Given the description of an element on the screen output the (x, y) to click on. 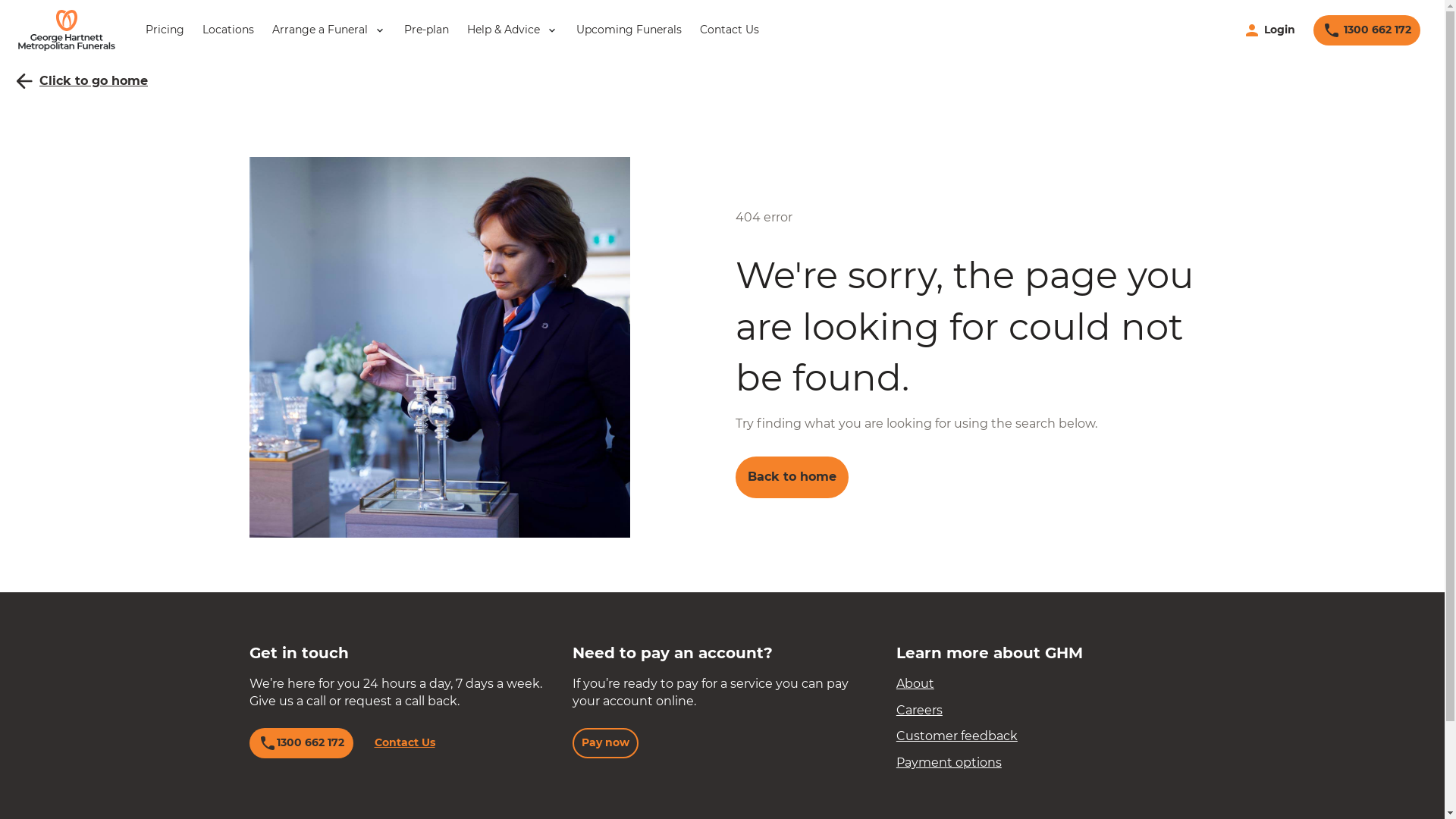
Pre-plan Element type: text (426, 29)
Return to ghm home page Element type: hover (66, 30)
Payment options Element type: text (948, 762)
Login Element type: text (1268, 30)
Careers Element type: text (919, 709)
Locations Element type: text (228, 29)
Pricing Element type: text (164, 29)
Upcoming Funerals Element type: text (628, 29)
Click to go home Element type: text (80, 80)
Contact Us Element type: text (404, 743)
Help & Advice Element type: text (512, 29)
Back to home Element type: text (791, 476)
Pay now Element type: text (605, 743)
1300 662 172 Element type: text (1366, 30)
Customer feedback Element type: text (956, 735)
Arrange a Funeral Element type: text (328, 29)
1300 662 172 Element type: text (300, 743)
Contact Us Element type: text (729, 29)
About Element type: text (915, 683)
